Given the description of an element on the screen output the (x, y) to click on. 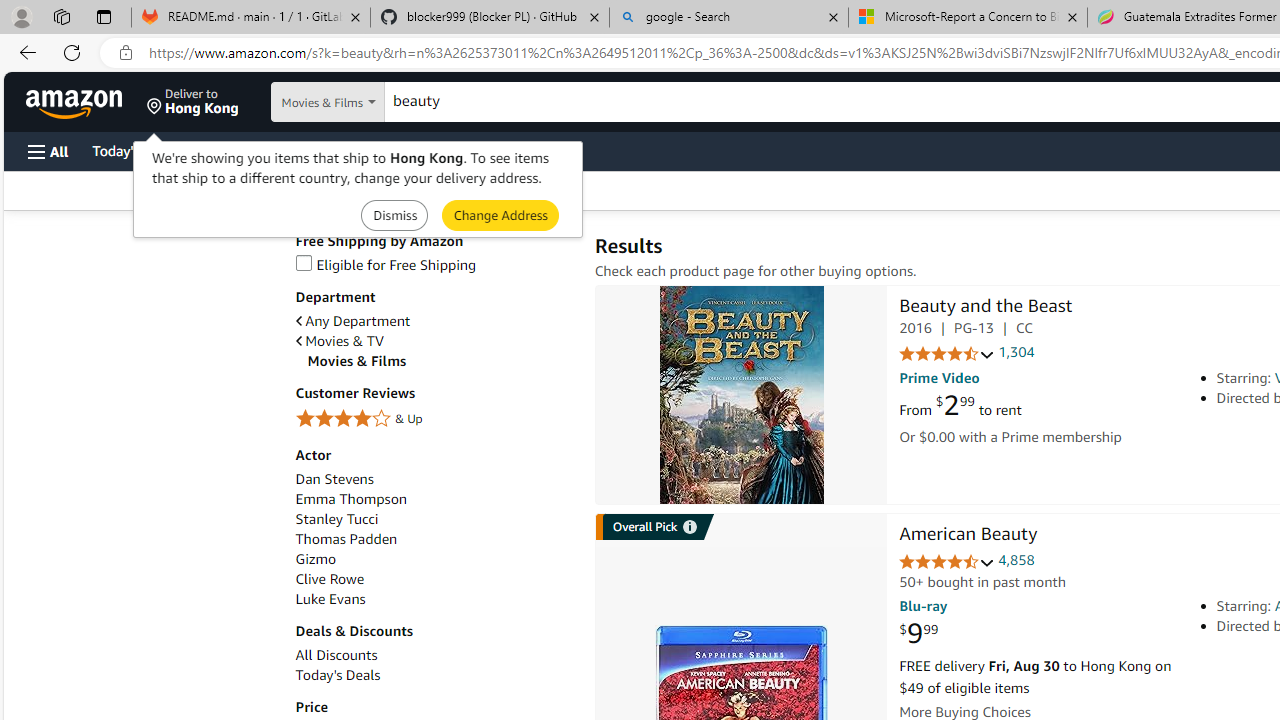
Today's Deals (434, 675)
American Beauty (968, 535)
1,304 (1016, 352)
Gift Cards (442, 150)
Customer Service (256, 150)
Eligible for Free Shipping (385, 264)
Dan Stevens (333, 479)
Emma Thompson (434, 499)
Open Menu (48, 151)
All Discounts (434, 655)
